Given the description of an element on the screen output the (x, y) to click on. 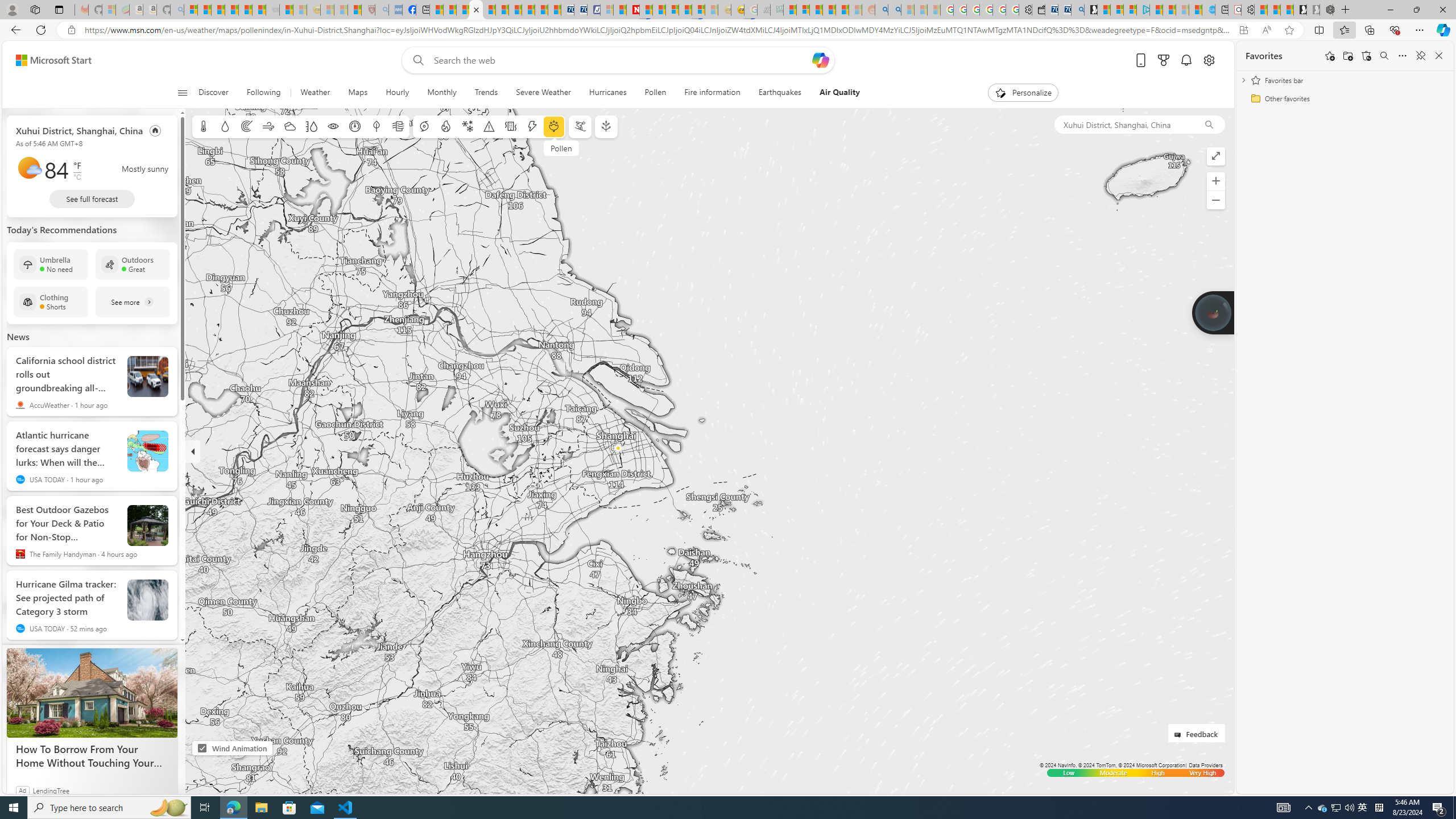
Close favorites (1439, 55)
The Weather Channel - MSN (218, 9)
Sea level pressure (355, 126)
Air Quality (834, 92)
